Given the description of an element on the screen output the (x, y) to click on. 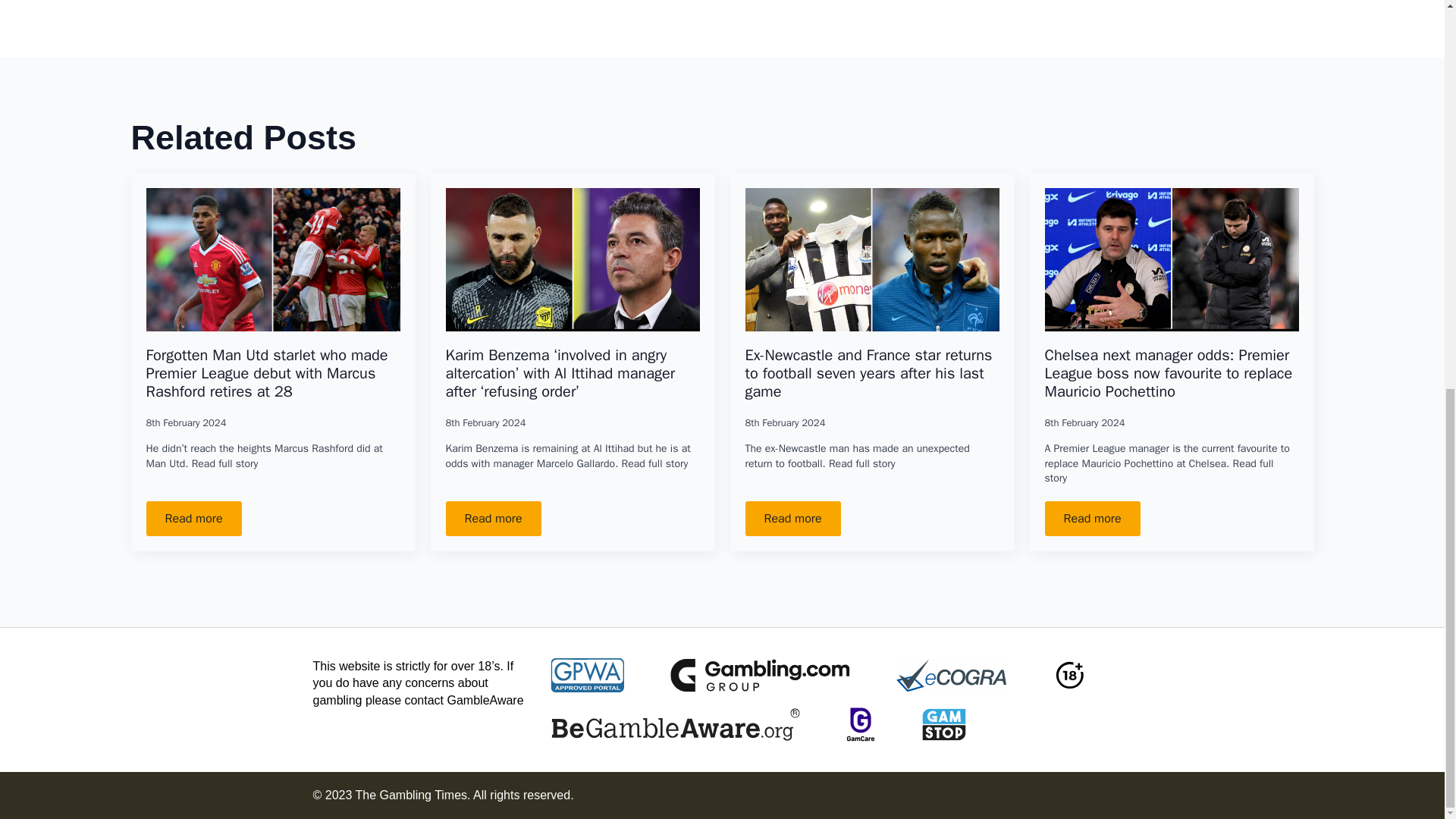
Read more (493, 518)
Read more (1092, 518)
GambleAware (485, 699)
Read more (193, 518)
Read more (792, 518)
